Given the description of an element on the screen output the (x, y) to click on. 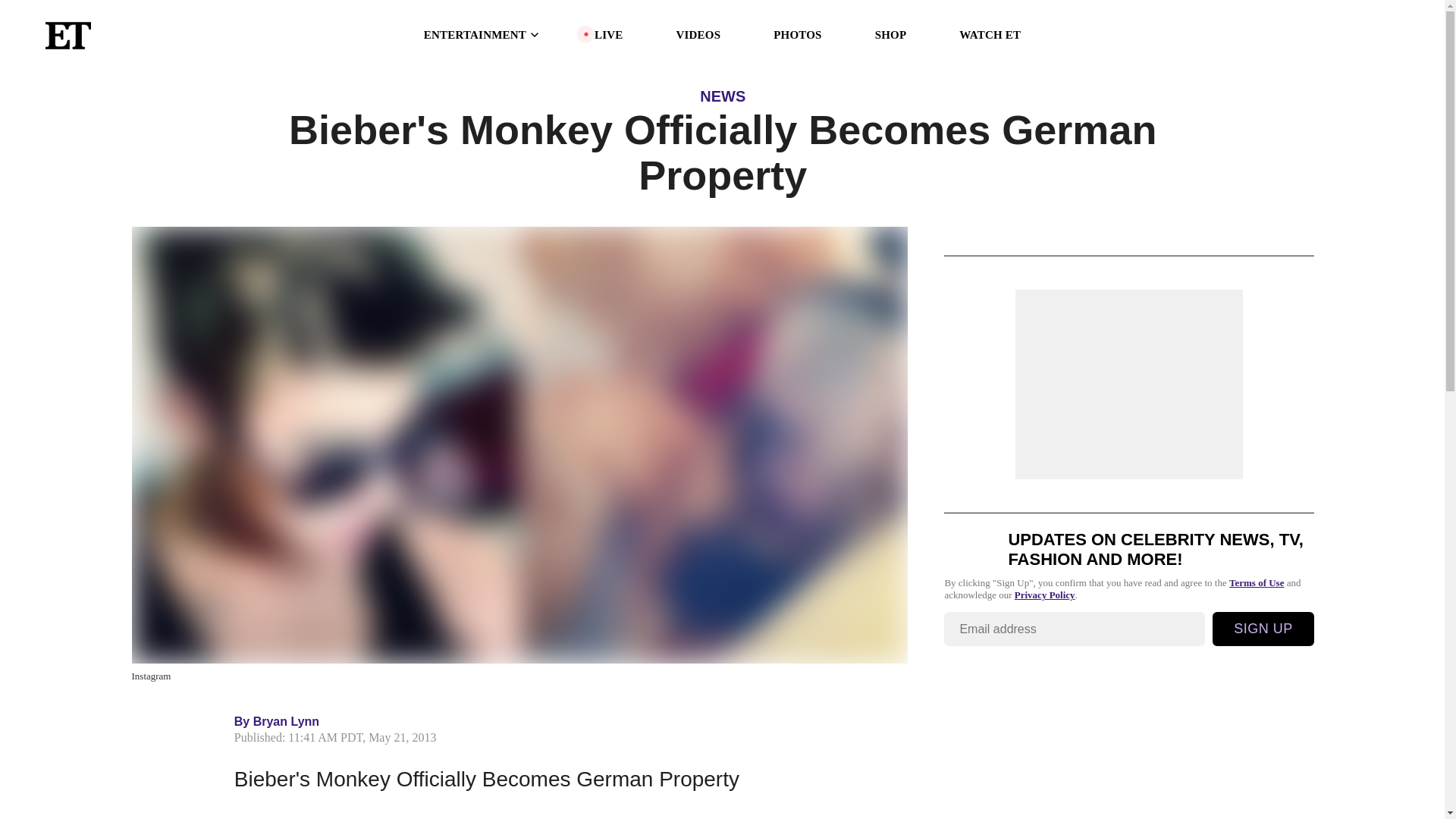
Privacy Policy (1044, 594)
Terms of Use (1256, 582)
ENTERTAINMENT (482, 34)
VIDEOS (697, 34)
PHOTOS (797, 34)
SHOP (891, 34)
SIGN UP (1263, 628)
LIVE (608, 34)
NEWS (722, 95)
WATCH ET (989, 34)
